Given the description of an element on the screen output the (x, y) to click on. 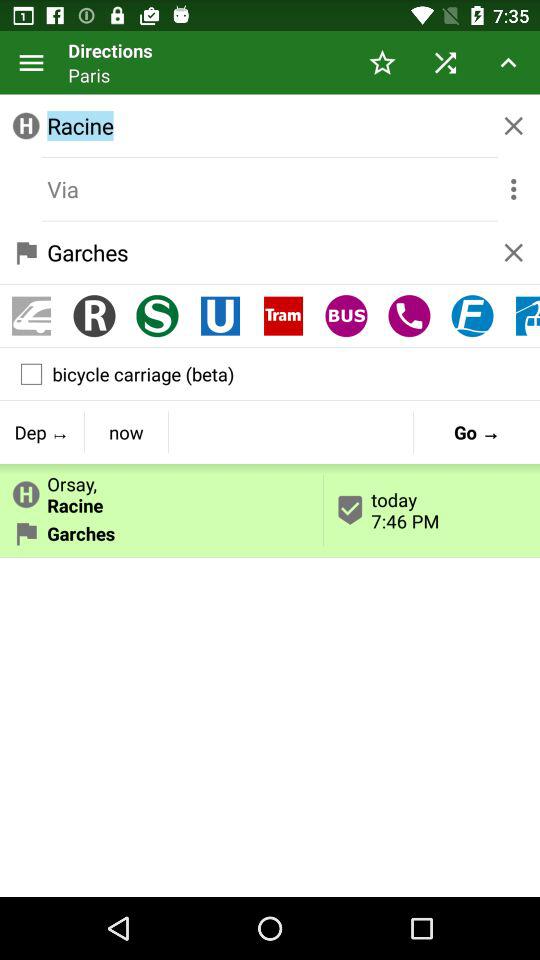
via (270, 189)
